Given the description of an element on the screen output the (x, y) to click on. 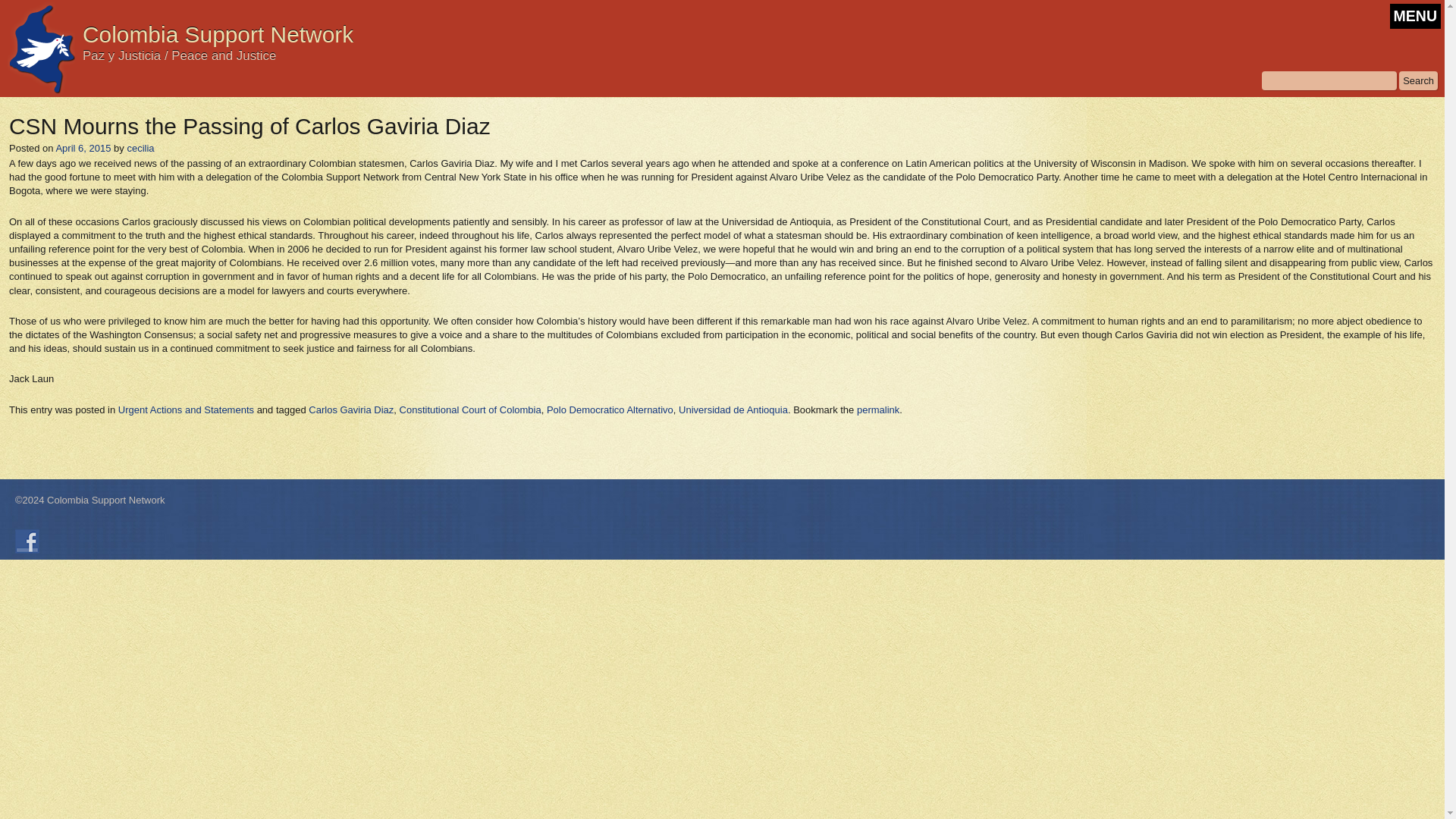
Follow Us on Facebook (26, 541)
permalink (878, 408)
Urgent Actions and Statements (185, 408)
cecilia (140, 147)
Search (1418, 80)
Permalink to CSN Mourns the Passing of Carlos Gaviria Diaz (878, 408)
View all posts by cecilia (140, 147)
Constitutional Court of Colombia (469, 408)
Search (1418, 80)
8:48 pm (82, 147)
